Given the description of an element on the screen output the (x, y) to click on. 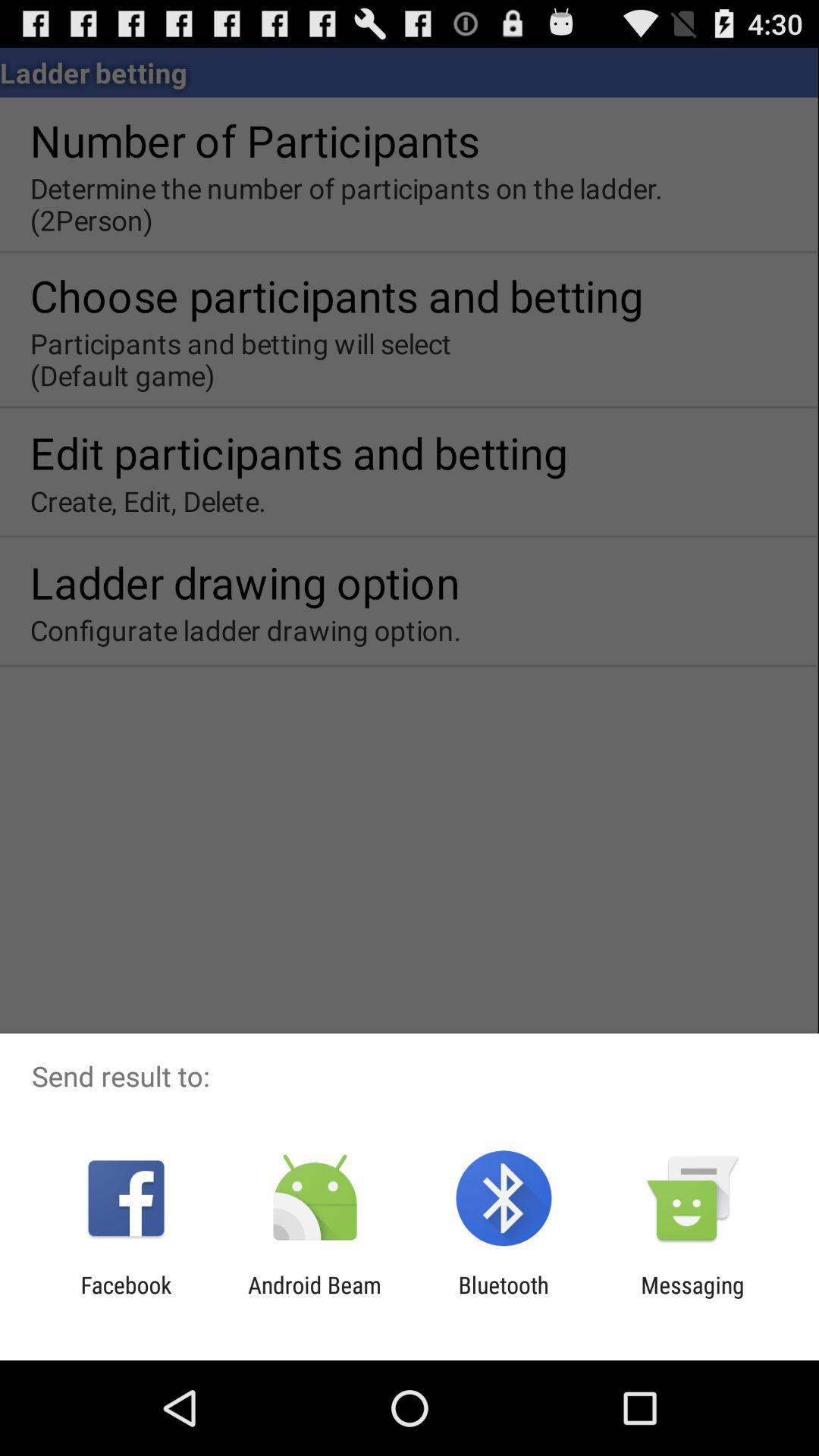
launch the app next to the bluetooth icon (692, 1298)
